Given the description of an element on the screen output the (x, y) to click on. 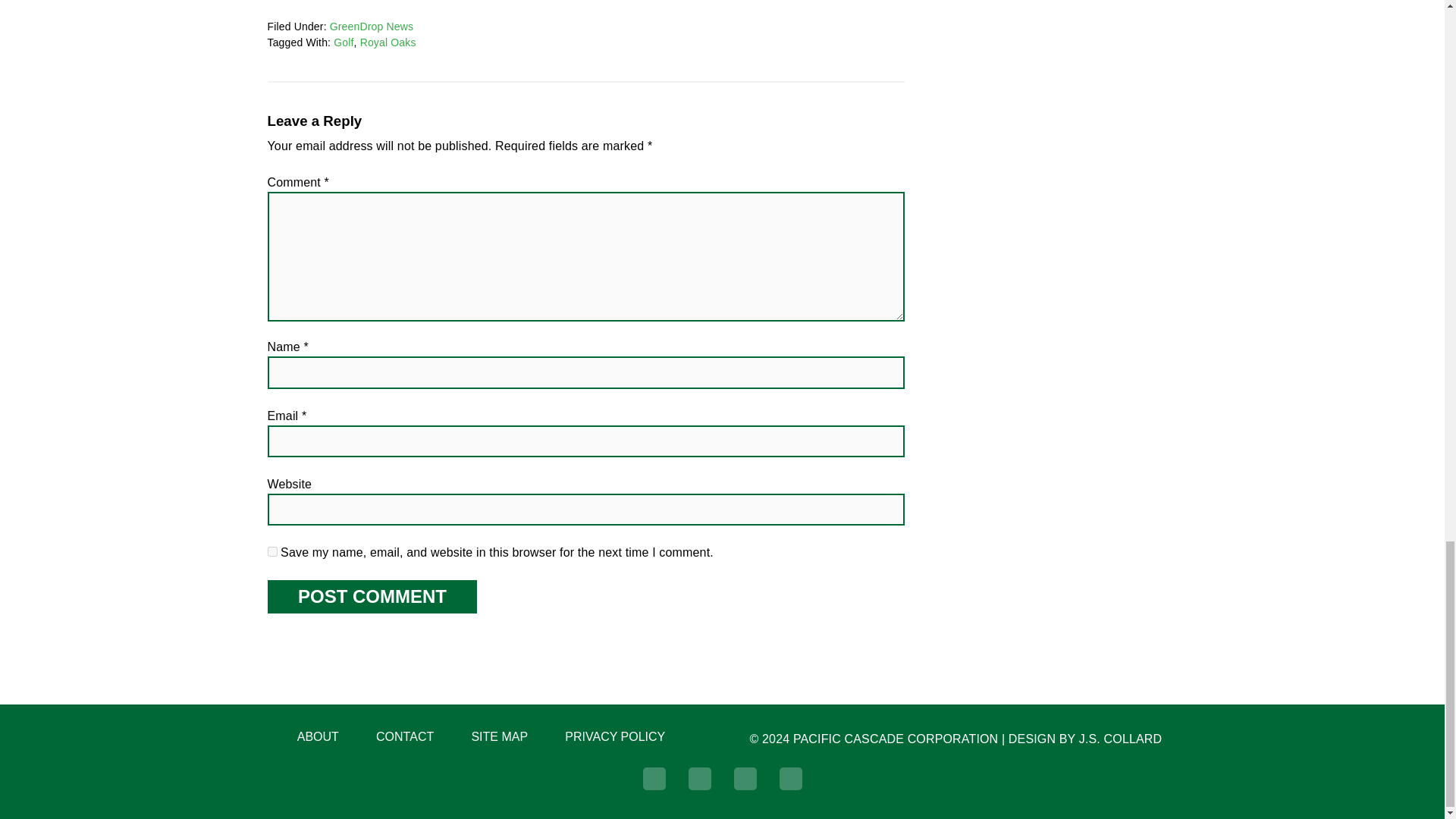
Post Comment (371, 596)
Royal Oaks (387, 42)
yes (271, 551)
Post Comment (371, 596)
Golf (343, 42)
GreenDrop News (371, 26)
